Given the description of an element on the screen output the (x, y) to click on. 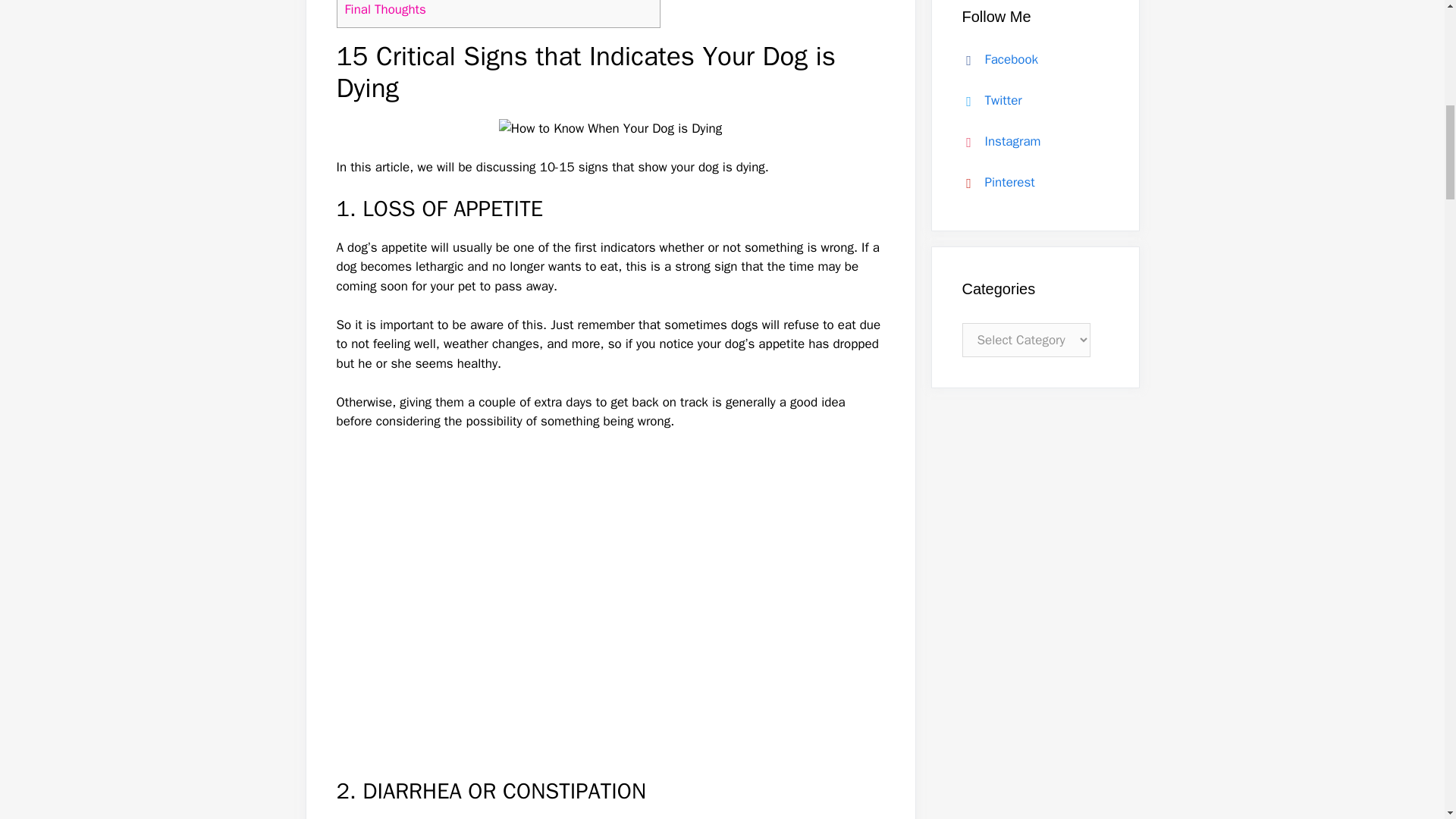
Instagram (998, 141)
Pinterest (994, 182)
Twitter (988, 100)
Scroll back to top (1406, 720)
Facebook (996, 59)
